Given the description of an element on the screen output the (x, y) to click on. 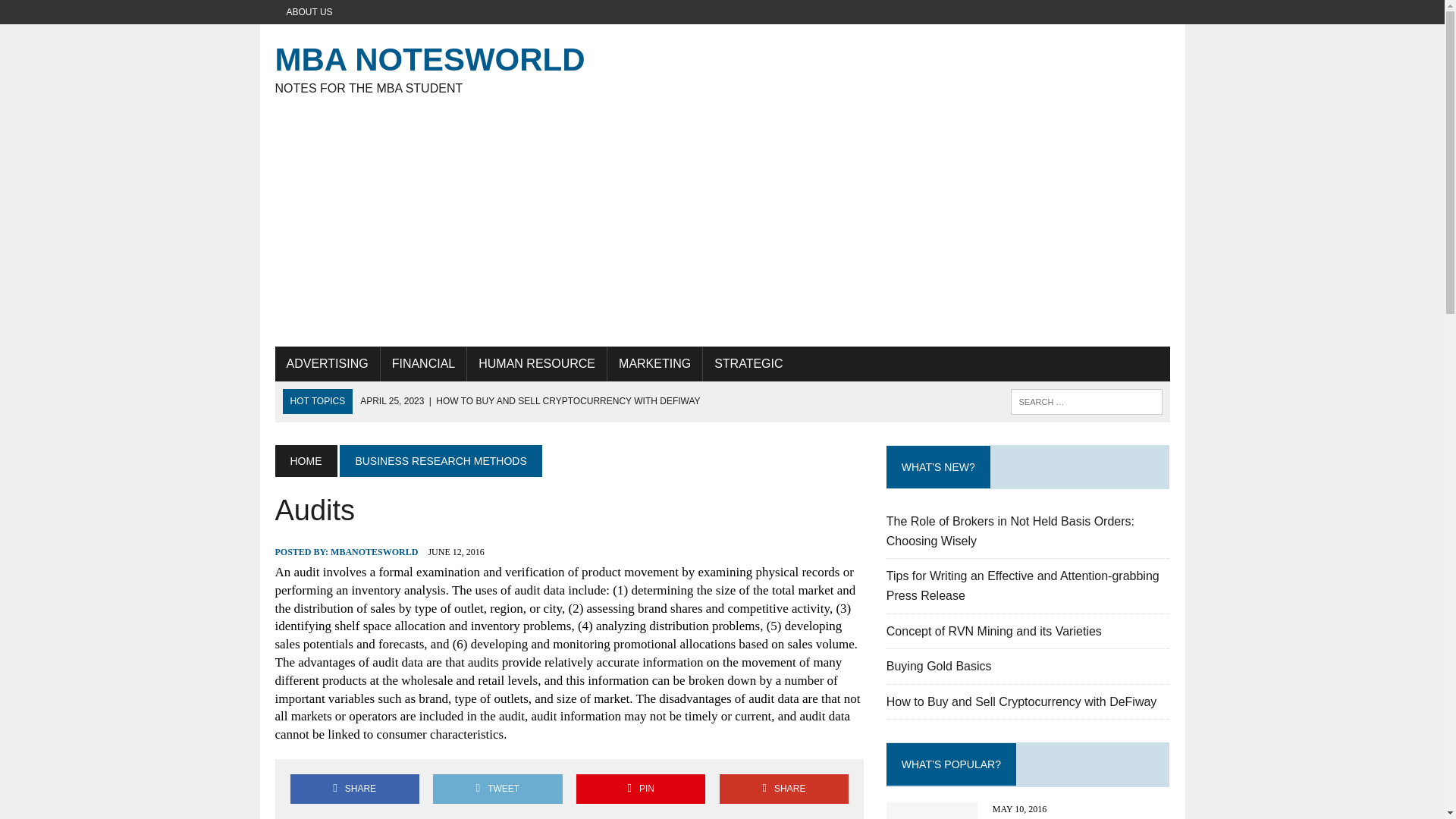
SHARE (783, 788)
ABOUT US (309, 12)
SHARE (354, 788)
MBANOTESWORLD (373, 552)
ADVERTISING (326, 363)
HOME (722, 67)
Tweet This Post (305, 460)
STRATEGIC (497, 788)
How to Buy and Sell Cryptocurrency with DeFiway (748, 363)
FINANCIAL (529, 400)
